Given the description of an element on the screen output the (x, y) to click on. 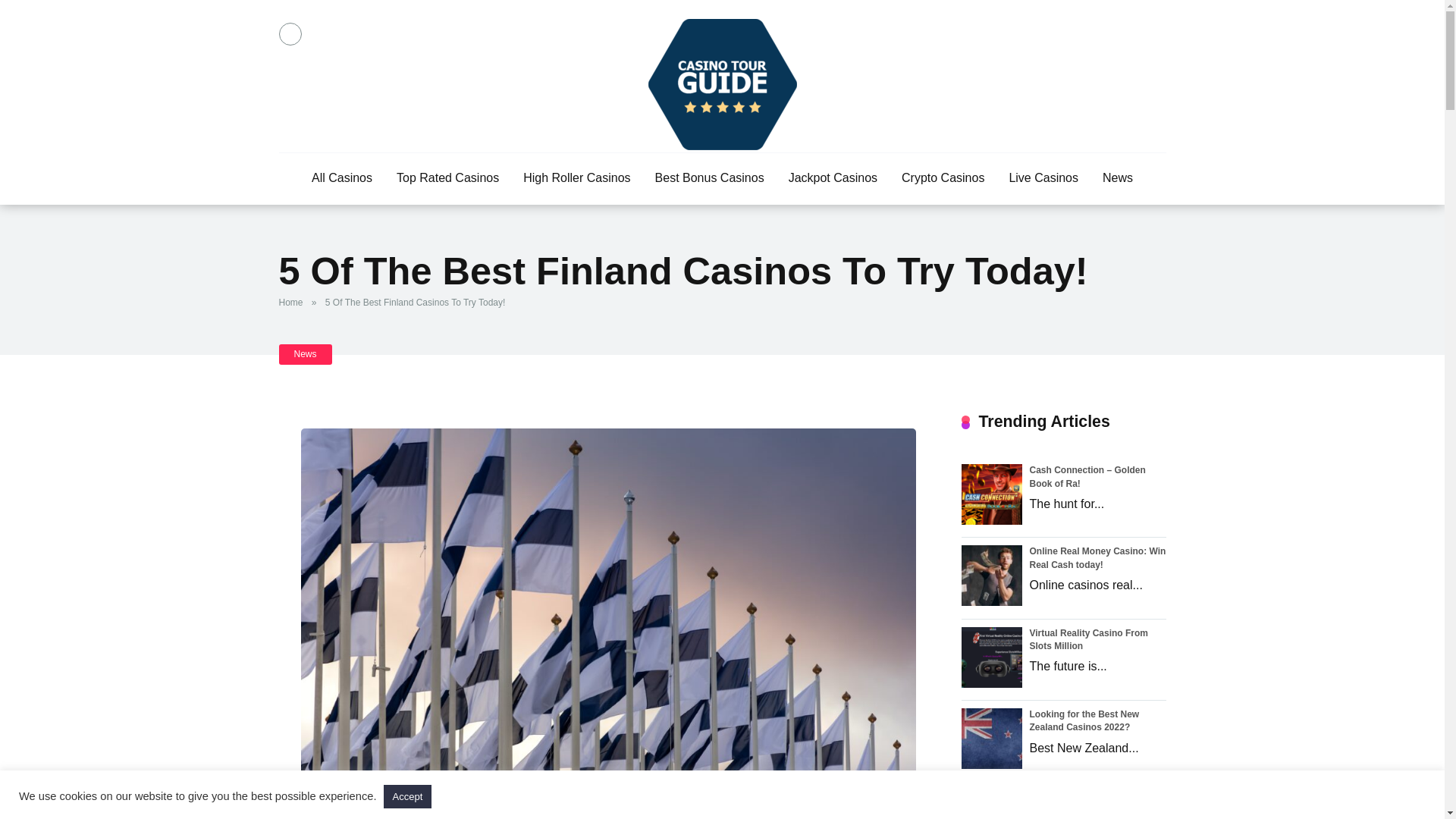
Jackpot Casinos (832, 178)
News (1117, 178)
Crypto Casinos (942, 178)
Home (293, 302)
Casino Tour Guide (721, 83)
Online Real Money Casino: Win Real Cash today! (1097, 556)
News (305, 353)
Best Bonus Casinos (709, 178)
Facebook (290, 33)
Top Rated Casinos (447, 178)
High Roller Casinos (576, 178)
Live Casinos (1042, 178)
All Casinos (341, 178)
